Given the description of an element on the screen output the (x, y) to click on. 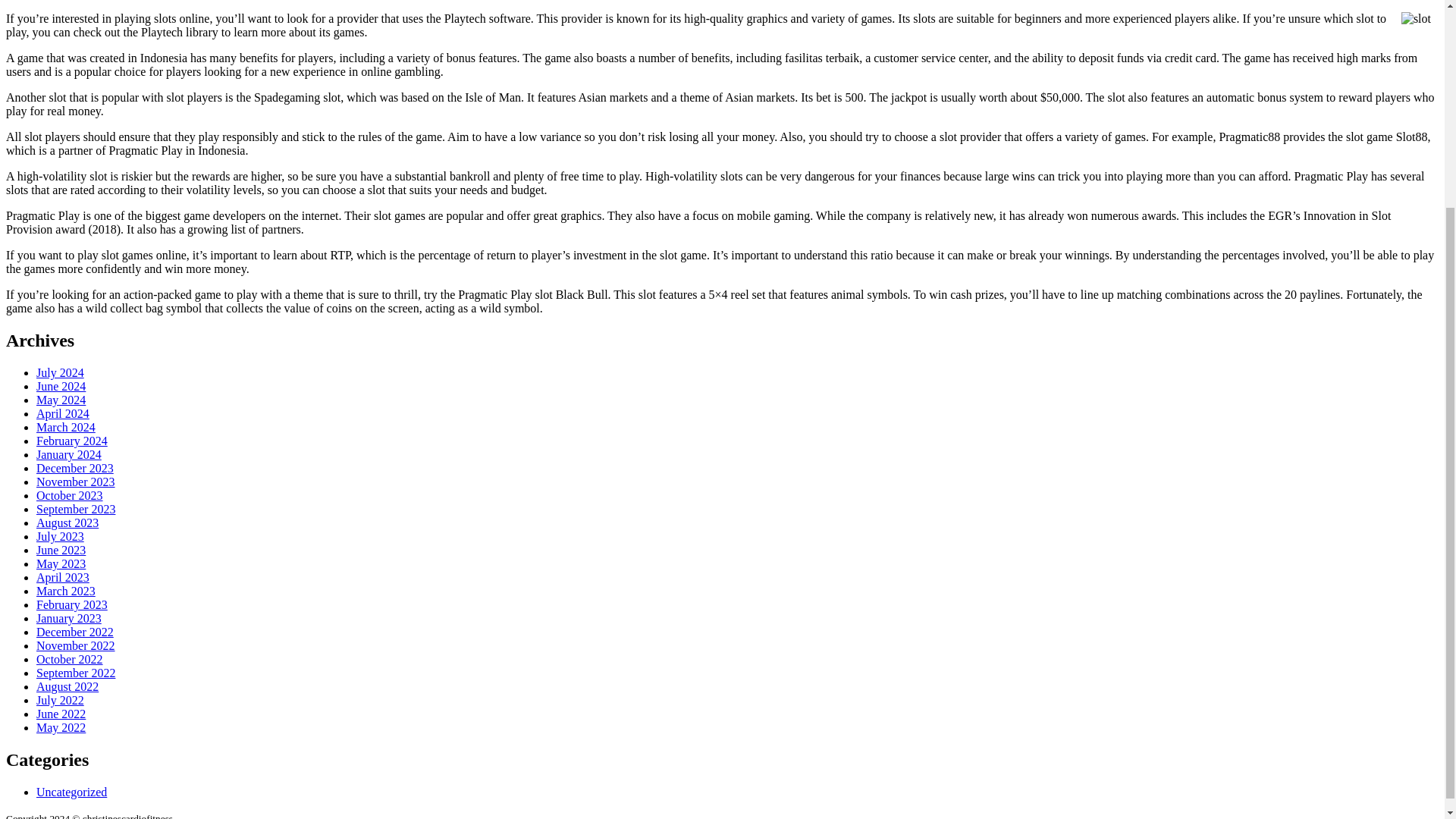
August 2022 (67, 686)
March 2024 (66, 427)
February 2023 (71, 604)
December 2023 (74, 468)
August 2023 (67, 522)
January 2024 (68, 454)
May 2024 (60, 399)
September 2022 (75, 672)
November 2023 (75, 481)
December 2022 (74, 631)
March 2023 (66, 590)
February 2024 (71, 440)
July 2024 (60, 372)
September 2023 (75, 508)
June 2023 (60, 549)
